Given the description of an element on the screen output the (x, y) to click on. 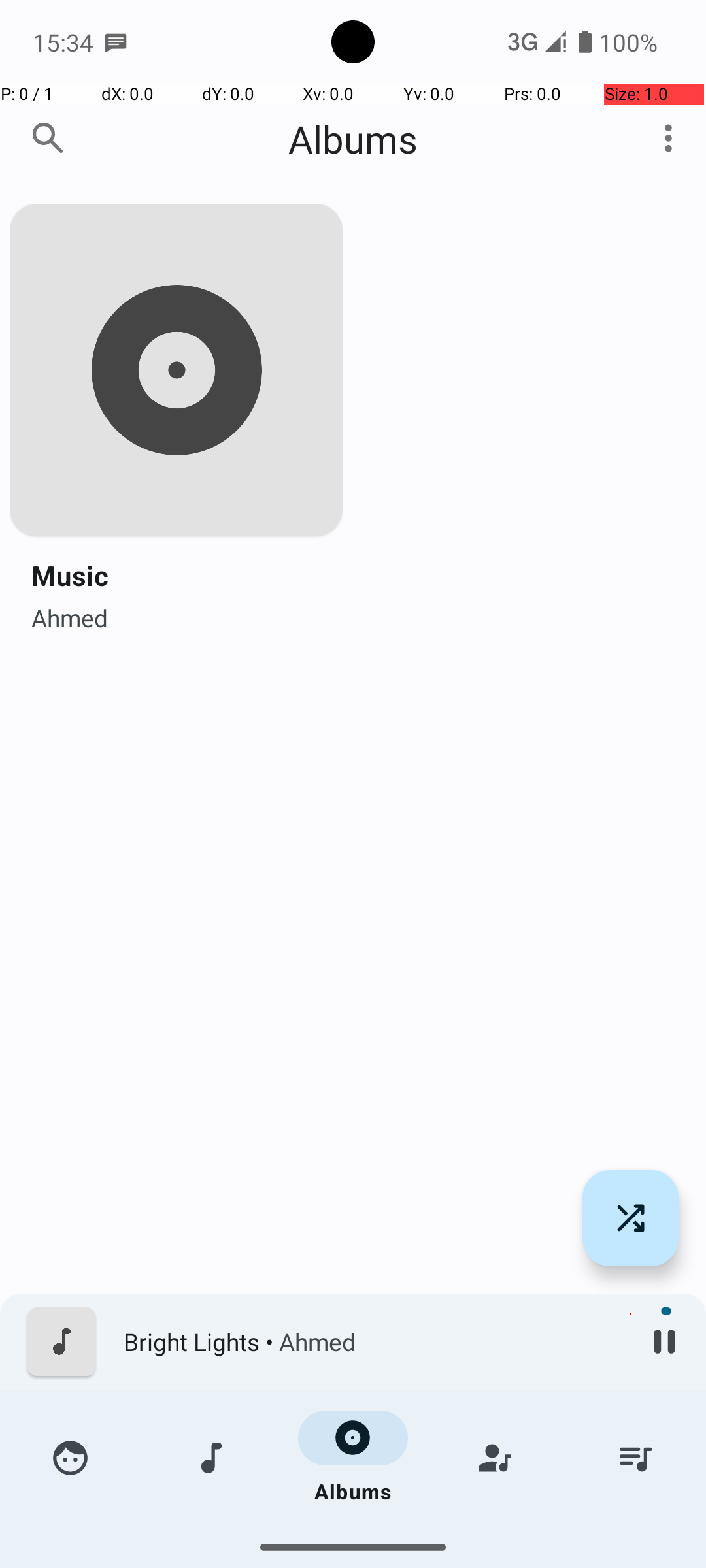
Bright Lights • Ahmed Element type: android.widget.TextView (372, 1341)
Music Element type: android.widget.TextView (69, 574)
Ahmed Element type: android.widget.TextView (69, 613)
